Given the description of an element on the screen output the (x, y) to click on. 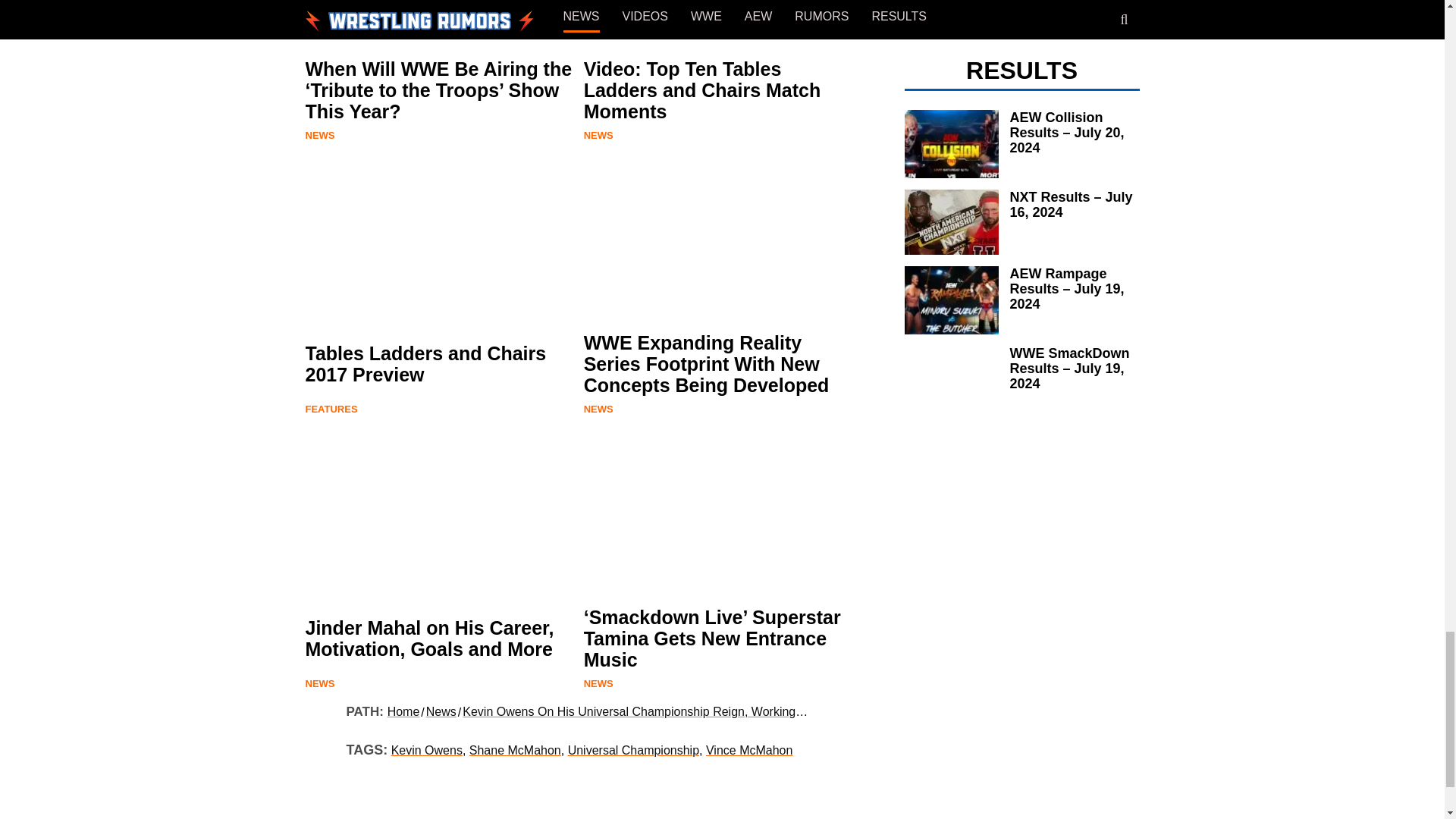
Features (330, 408)
News (319, 134)
News (319, 683)
News (597, 408)
News (597, 134)
News (597, 683)
